Given the description of an element on the screen output the (x, y) to click on. 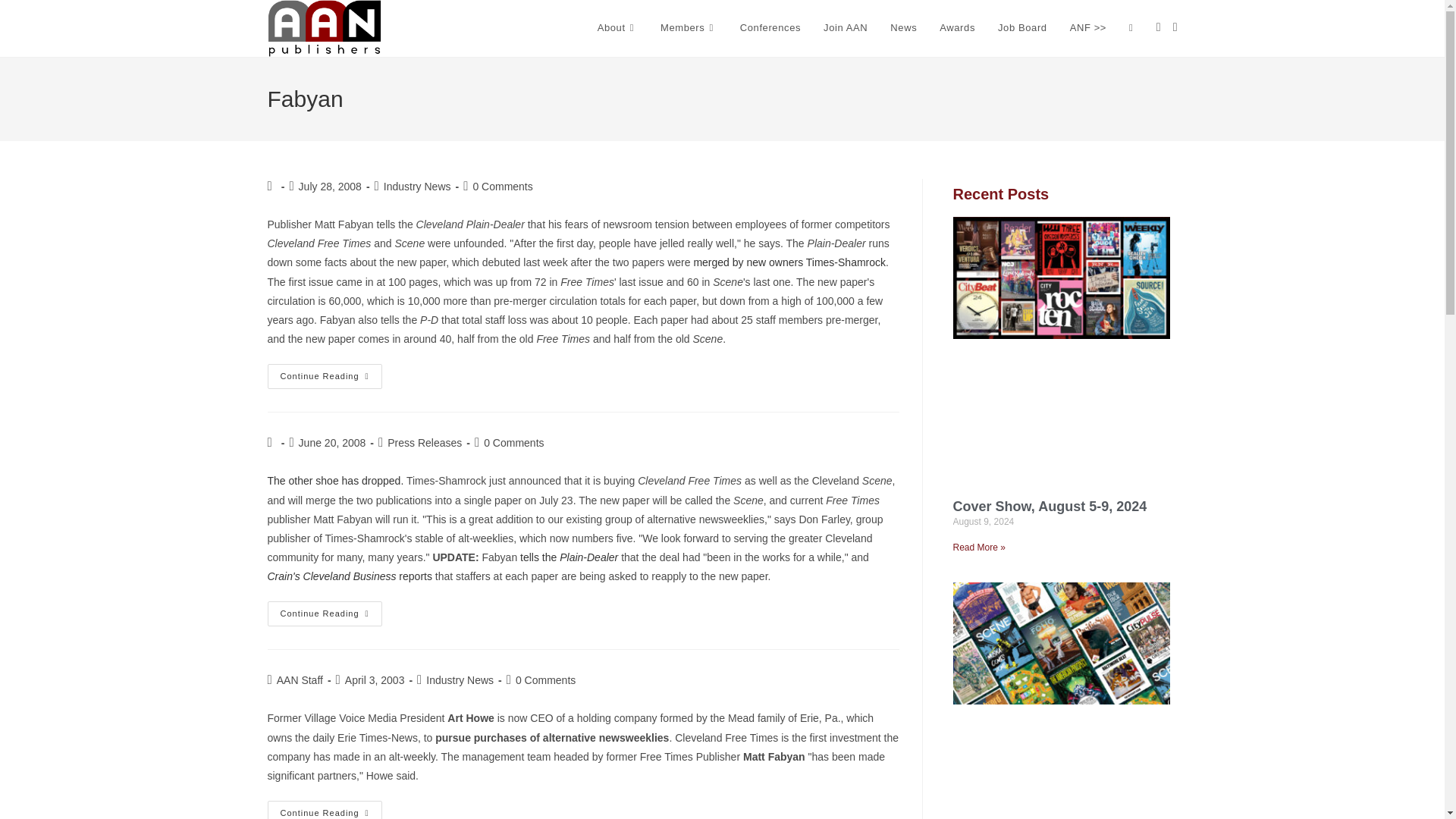
Awards (957, 28)
Conferences (770, 28)
Posts by AAN Staff (299, 680)
Members (689, 28)
Join AAN (845, 28)
About (617, 28)
Job Board (1022, 28)
